Given the description of an element on the screen output the (x, y) to click on. 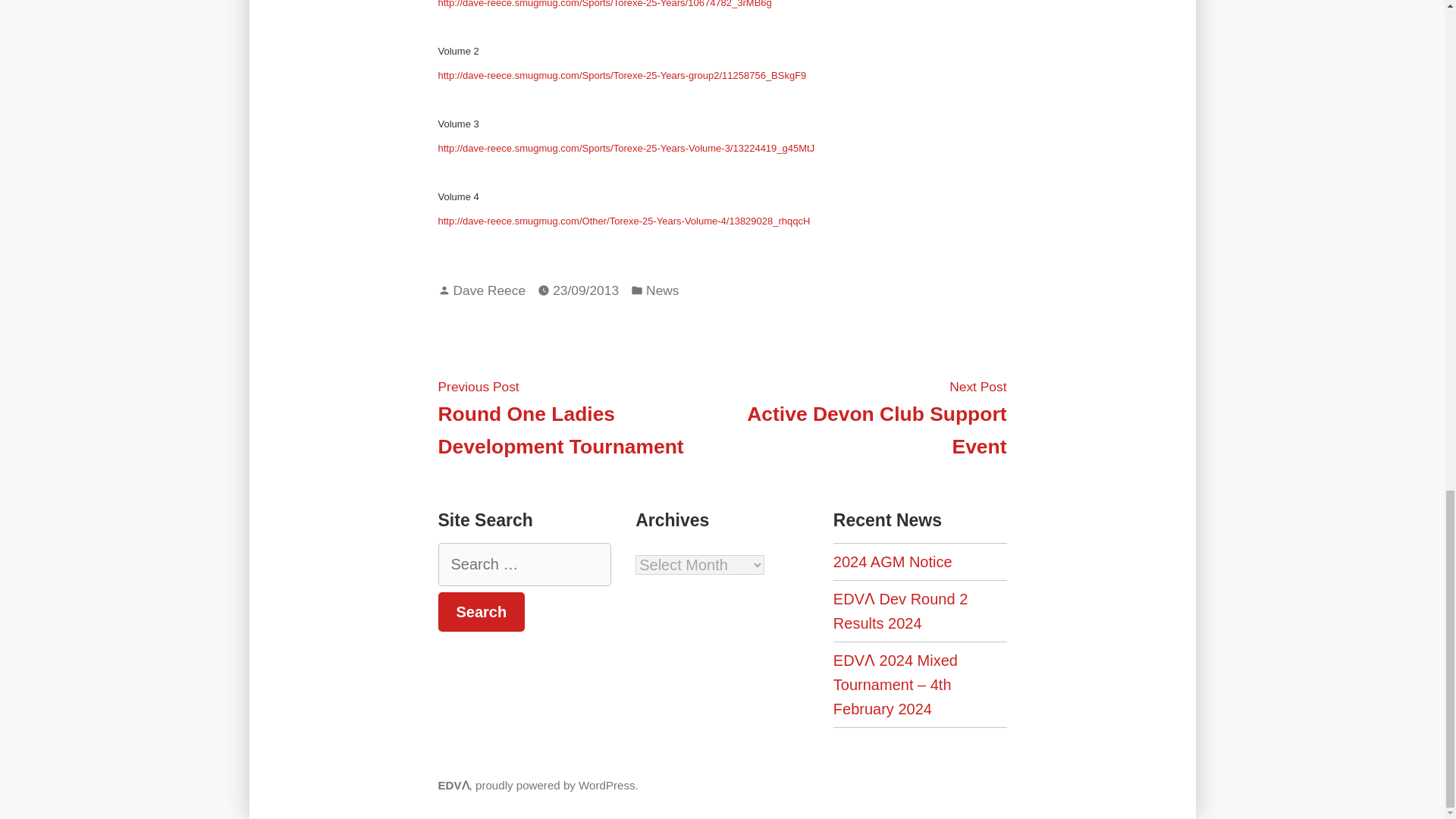
Search (481, 611)
proudly powered by WordPress (876, 416)
Dave Reece (555, 784)
News (488, 290)
Search (662, 291)
Search (481, 611)
2024 AGM Notice (481, 611)
